Given the description of an element on the screen output the (x, y) to click on. 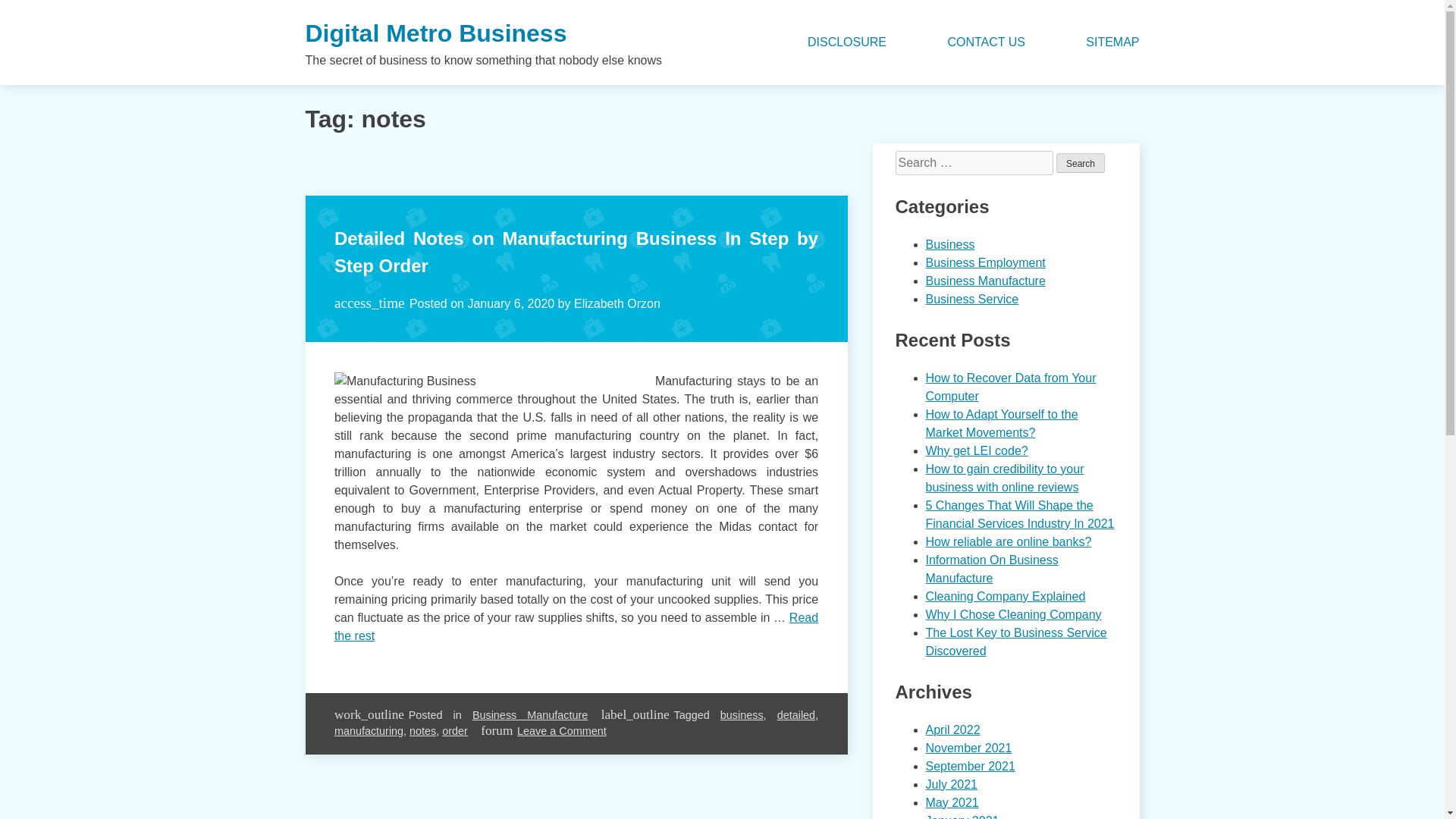
Search (1081, 162)
business (741, 715)
Search (1081, 162)
Information On Business Manufacture (991, 568)
November 2021 (967, 748)
January 2021 (961, 816)
January 6, 2020 (510, 303)
Read the rest (576, 626)
Why get LEI code? (975, 450)
Search (1081, 162)
